Given the description of an element on the screen output the (x, y) to click on. 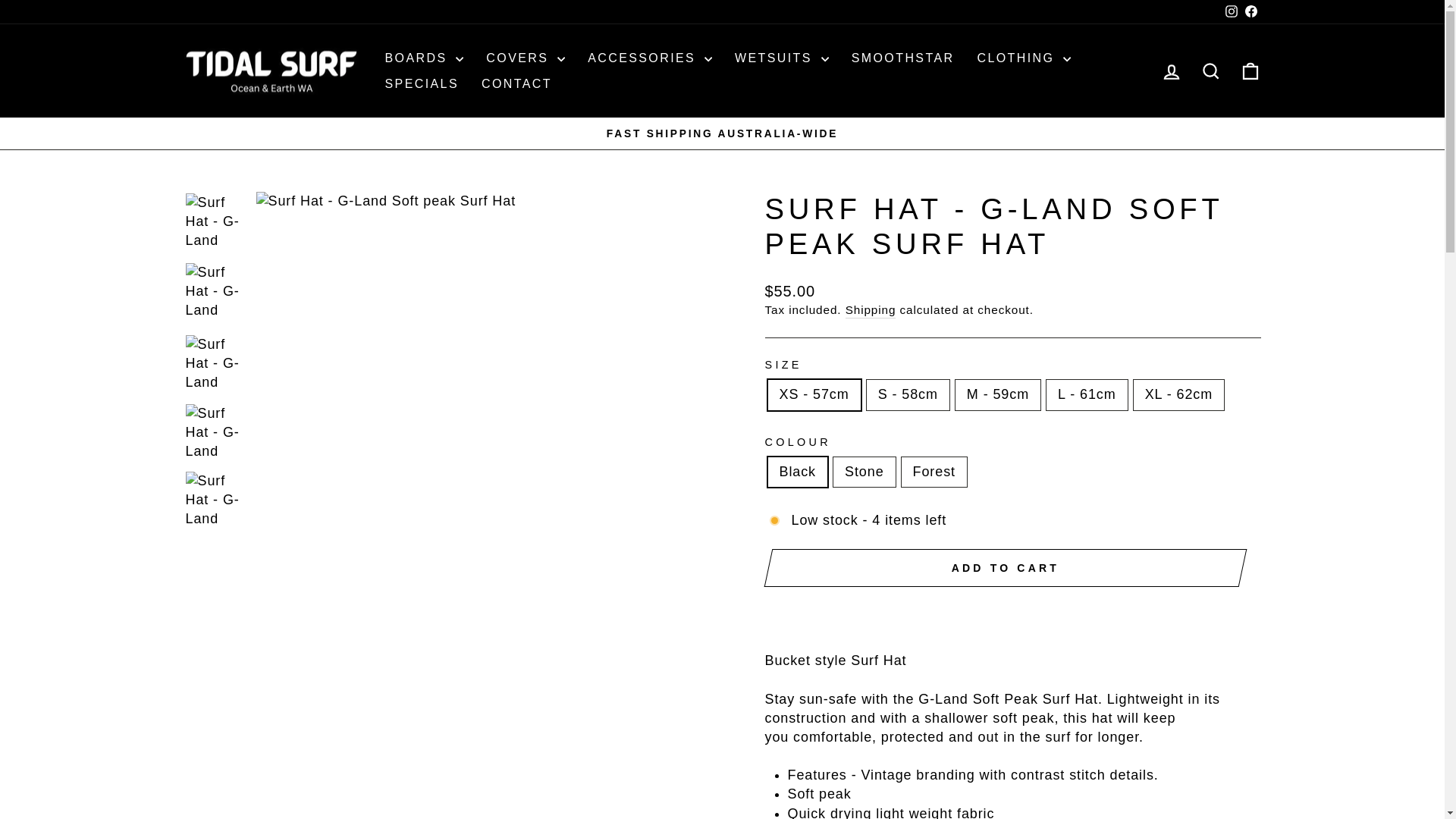
ICON-SEARCH (1210, 70)
ICON-BAG-MINIMAL (1249, 70)
instagram (1231, 10)
ACCOUNT (1170, 71)
